Given the description of an element on the screen output the (x, y) to click on. 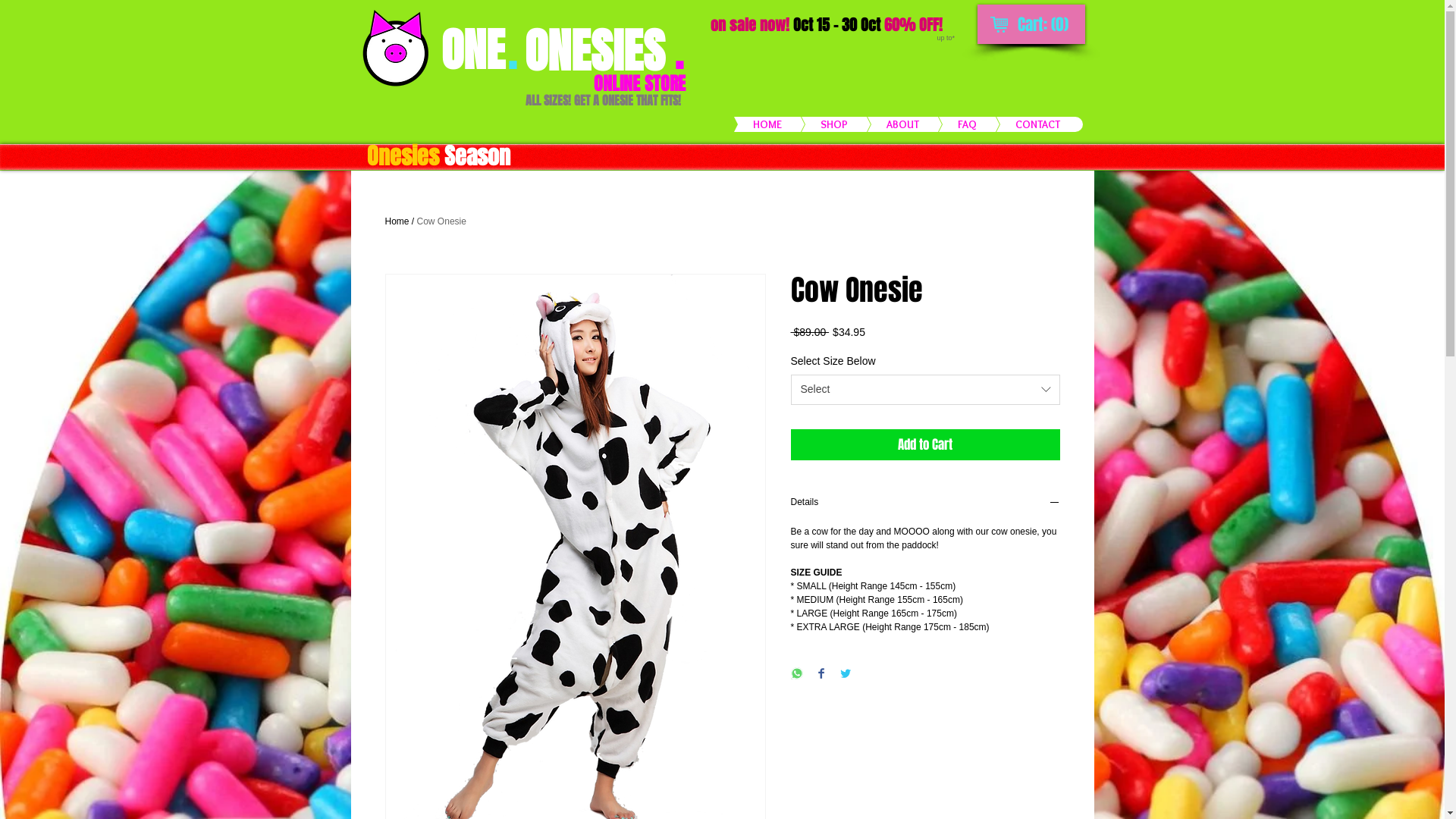
FAQ Element type: text (943, 123)
Add to Cart Element type: text (924, 445)
HOME Element type: text (743, 123)
Select Element type: text (924, 389)
ONE ONESIS logo Element type: hover (393, 47)
Home Element type: text (397, 221)
Cow Onesie Element type: text (441, 221)
ABOUT Element type: text (879, 123)
Cart: (0) Element type: text (1043, 24)
CONTACT Element type: text (1014, 123)
Details Element type: text (924, 503)
SHOP Element type: text (811, 123)
